Given the description of an element on the screen output the (x, y) to click on. 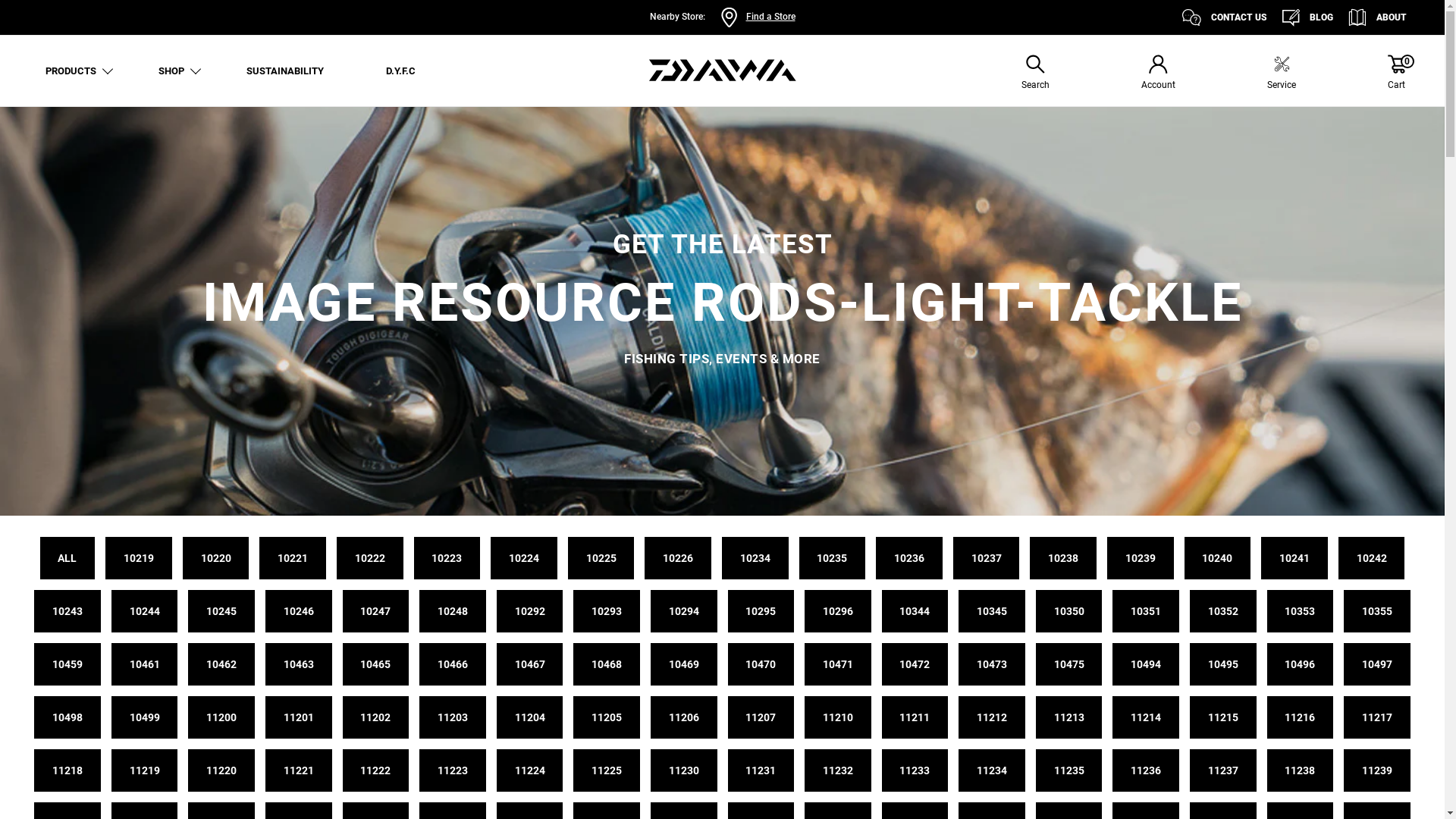
10234 Element type: text (754, 557)
10468 Element type: text (606, 664)
10239 Element type: text (1140, 557)
10494 Element type: text (1145, 664)
10225 Element type: text (600, 557)
11205 Element type: text (606, 717)
10472 Element type: text (914, 664)
10235 Element type: text (832, 557)
11216 Element type: text (1300, 717)
SUSTAINABILITY Element type: text (284, 70)
SHOP Element type: text (170, 70)
10495 Element type: text (1222, 664)
11225 Element type: text (606, 770)
10240 Element type: text (1217, 557)
10473 Element type: text (991, 664)
10459 Element type: text (67, 664)
10220 Element type: text (215, 557)
10219 Element type: text (138, 557)
11221 Element type: text (298, 770)
11210 Element type: text (837, 717)
10238 Element type: text (1062, 557)
11222 Element type: text (375, 770)
10224 Element type: text (523, 557)
Service Element type: text (1281, 73)
10247 Element type: text (375, 610)
11201 Element type: text (298, 717)
11239 Element type: text (1376, 770)
11224 Element type: text (529, 770)
11202 Element type: text (375, 717)
10462 Element type: text (221, 664)
11215 Element type: text (1222, 717)
10237 Element type: text (986, 557)
Account Element type: text (1158, 73)
11233 Element type: text (914, 770)
10471 Element type: text (837, 664)
ABOUT Element type: text (1377, 17)
11236 Element type: text (1145, 770)
10344 Element type: text (914, 610)
11211 Element type: text (914, 717)
11207 Element type: text (761, 717)
10351 Element type: text (1145, 610)
11230 Element type: text (683, 770)
10496 Element type: text (1300, 664)
10355 Element type: text (1376, 610)
11234 Element type: text (991, 770)
10475 Element type: text (1068, 664)
11235 Element type: text (1068, 770)
10226 Element type: text (677, 557)
10352 Element type: text (1222, 610)
Find a Store Element type: text (770, 16)
10296 Element type: text (837, 610)
10461 Element type: text (144, 664)
10497 Element type: text (1376, 664)
10463 Element type: text (298, 664)
CONTACT US Element type: text (1224, 17)
10245 Element type: text (221, 610)
10236 Element type: text (908, 557)
11217 Element type: text (1376, 717)
11214 Element type: text (1145, 717)
10345 Element type: text (991, 610)
10467 Element type: text (529, 664)
11206 Element type: text (683, 717)
0
Cart Element type: text (1396, 73)
10465 Element type: text (375, 664)
10295 Element type: text (761, 610)
11213 Element type: text (1068, 717)
10499 Element type: text (144, 717)
10223 Element type: text (447, 557)
11204 Element type: text (529, 717)
10246 Element type: text (298, 610)
11220 Element type: text (221, 770)
10294 Element type: text (683, 610)
11223 Element type: text (452, 770)
10293 Element type: text (606, 610)
Search Element type: text (1035, 73)
11212 Element type: text (991, 717)
10292 Element type: text (529, 610)
10469 Element type: text (683, 664)
PRODUCTS Element type: text (70, 70)
10242 Element type: text (1371, 557)
11218 Element type: text (67, 770)
10353 Element type: text (1300, 610)
ALL Element type: text (67, 557)
11203 Element type: text (452, 717)
10222 Element type: text (369, 557)
10350 Element type: text (1068, 610)
10248 Element type: text (452, 610)
D.Y.F.C Element type: text (400, 70)
11231 Element type: text (761, 770)
11238 Element type: text (1300, 770)
11232 Element type: text (837, 770)
11200 Element type: text (221, 717)
10244 Element type: text (144, 610)
BLOG Element type: text (1307, 17)
10466 Element type: text (452, 664)
10243 Element type: text (67, 610)
10241 Element type: text (1294, 557)
11237 Element type: text (1222, 770)
10221 Element type: text (292, 557)
10498 Element type: text (67, 717)
10470 Element type: text (761, 664)
11219 Element type: text (144, 770)
